Given the description of an element on the screen output the (x, y) to click on. 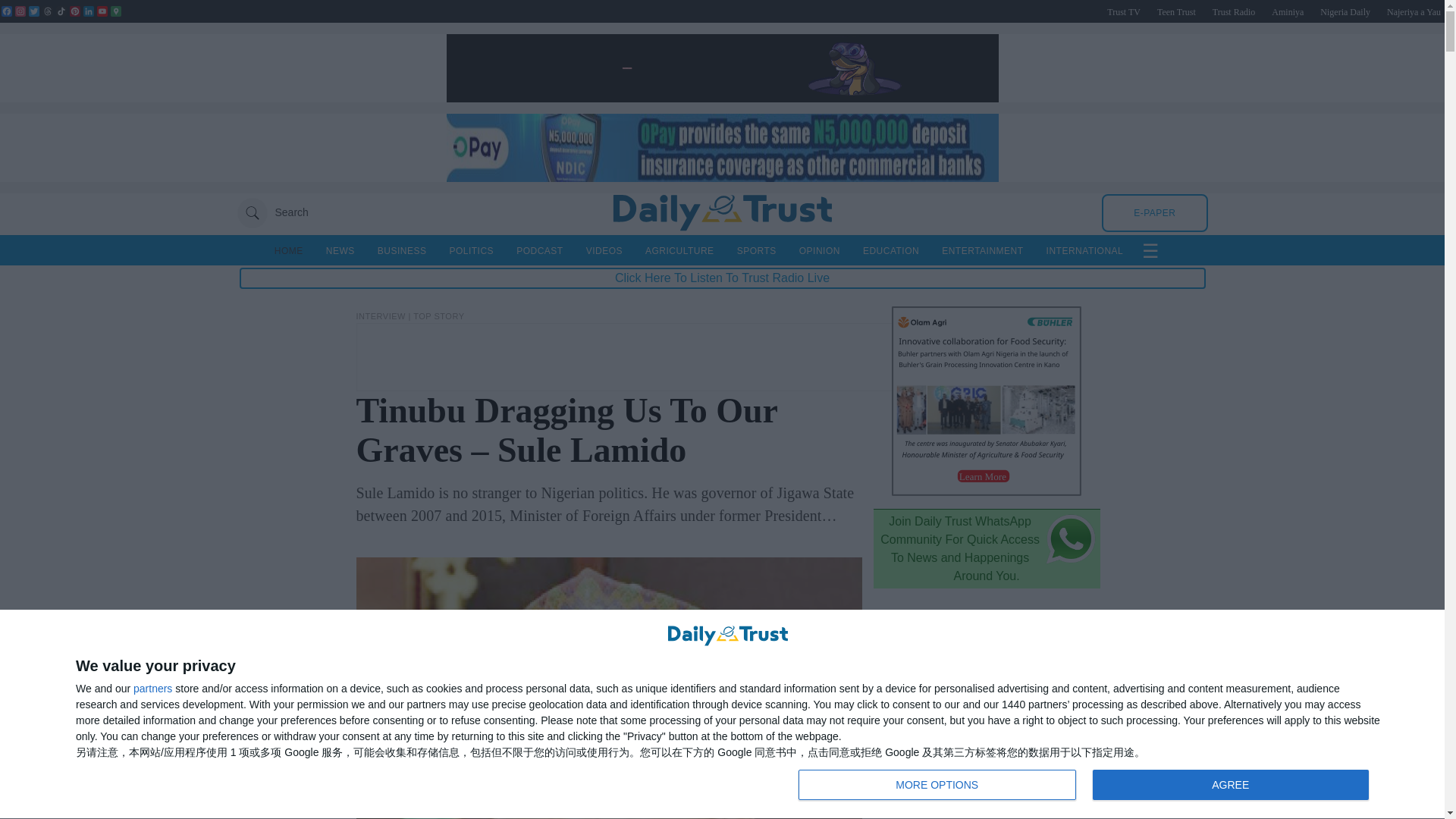
Trust Radio (1233, 11)
Dailytrust (1086, 785)
PEPU Meme Coin (722, 212)
OPAY Digital Services (721, 97)
Top Story (721, 177)
Instagram (438, 316)
LinkedIn (20, 10)
Twitter (88, 10)
partners (33, 10)
Najeriya a Yau (152, 688)
Teen Trust (1414, 11)
Trust TV Live (1176, 11)
Aminiya (1123, 11)
TikTok (1287, 11)
